Given the description of an element on the screen output the (x, y) to click on. 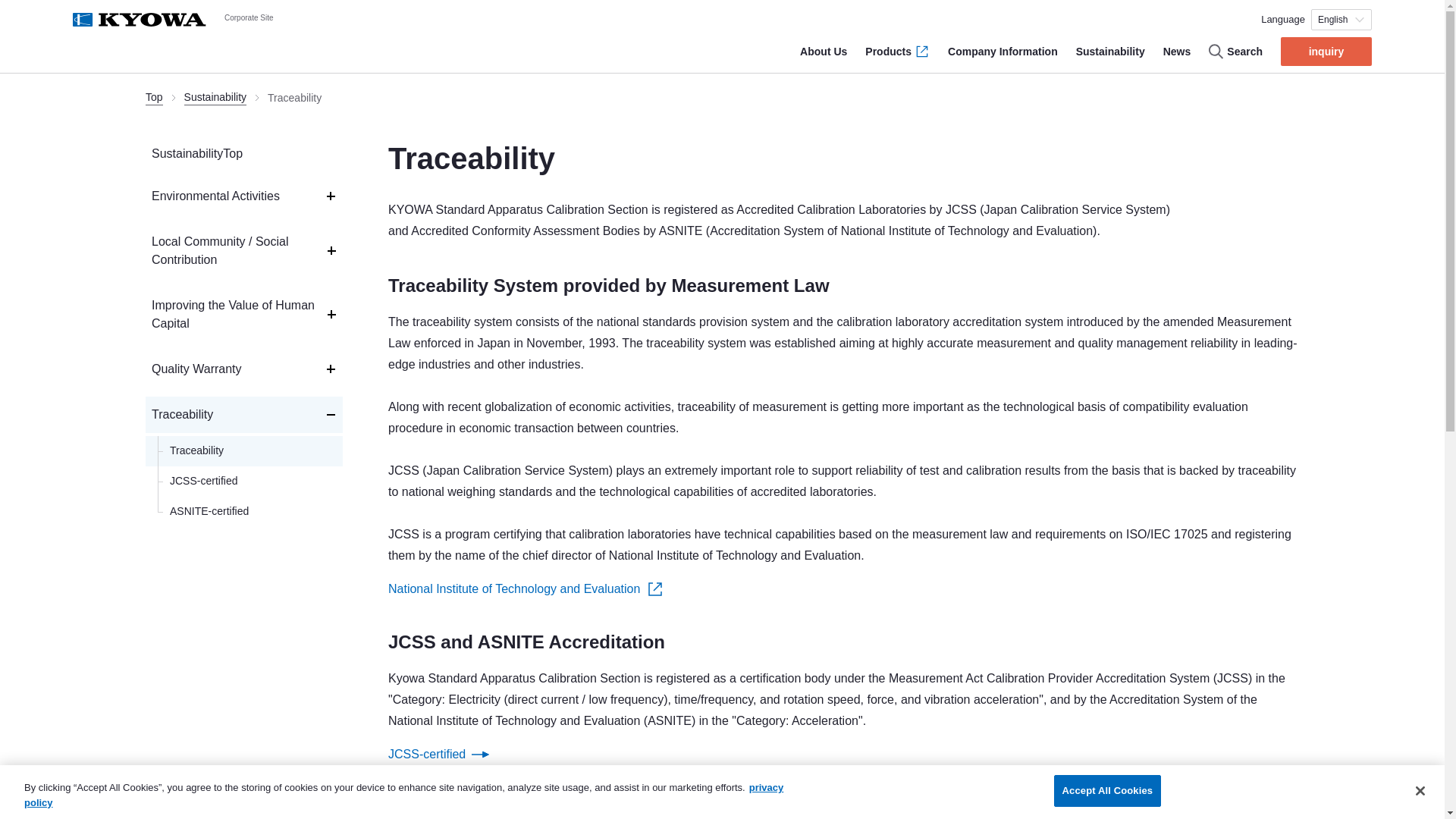
English (1341, 19)
Company Information (1002, 51)
Products (897, 51)
About Us (823, 51)
Search (1235, 51)
Sustainability (721, 97)
